Given the description of an element on the screen output the (x, y) to click on. 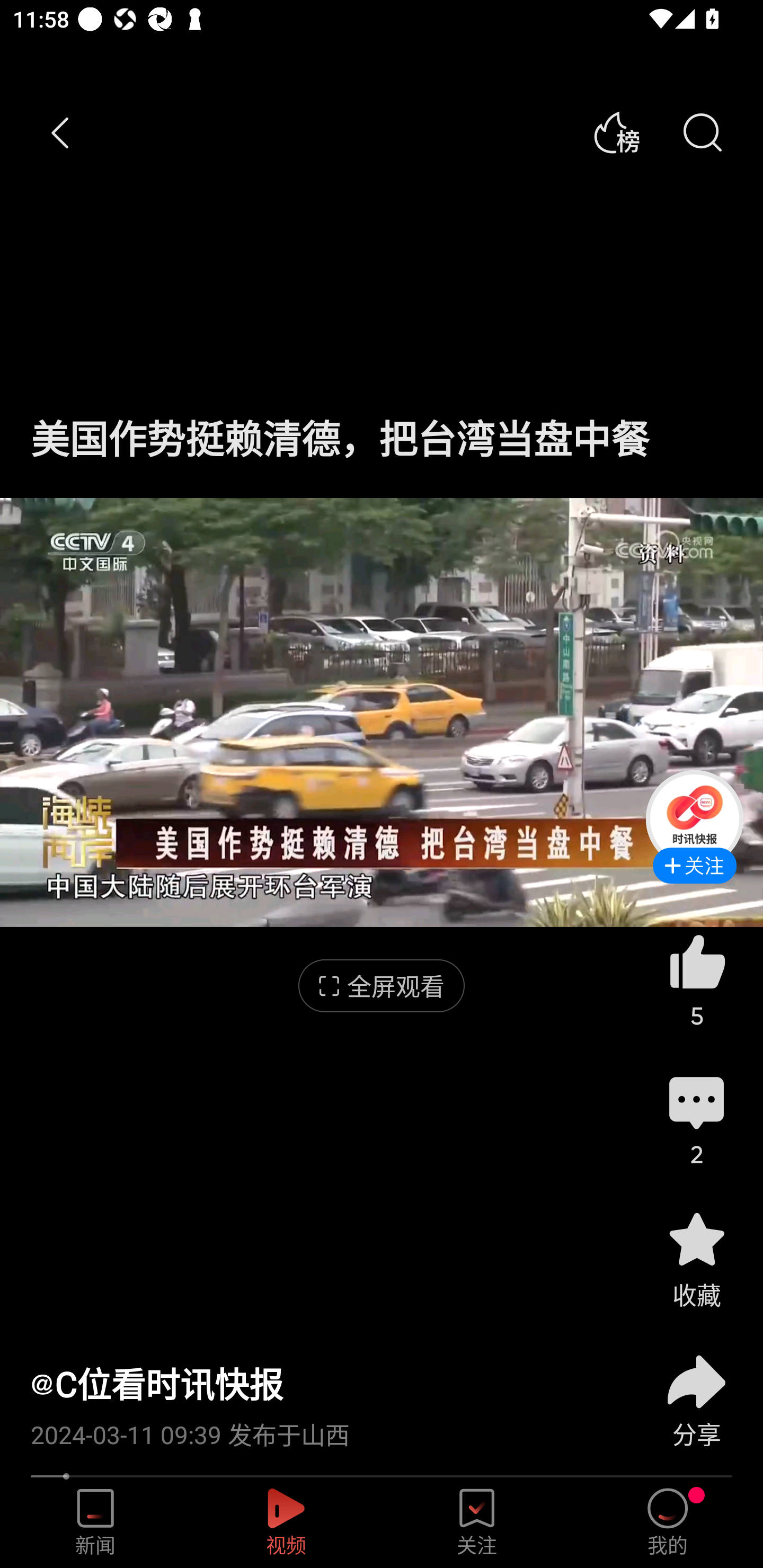
 返回 (60, 133)
 热榜 (616, 133)
 搜索 (701, 133)
赞 5 (696, 979)
全屏观看 (381, 985)
评论  2 (696, 1118)
收藏 (696, 1258)
分享  分享 (696, 1389)
C位看时讯快报 (156, 1383)
2024-03-11 09:39 发布于山西 (321, 1428)
